Given the description of an element on the screen output the (x, y) to click on. 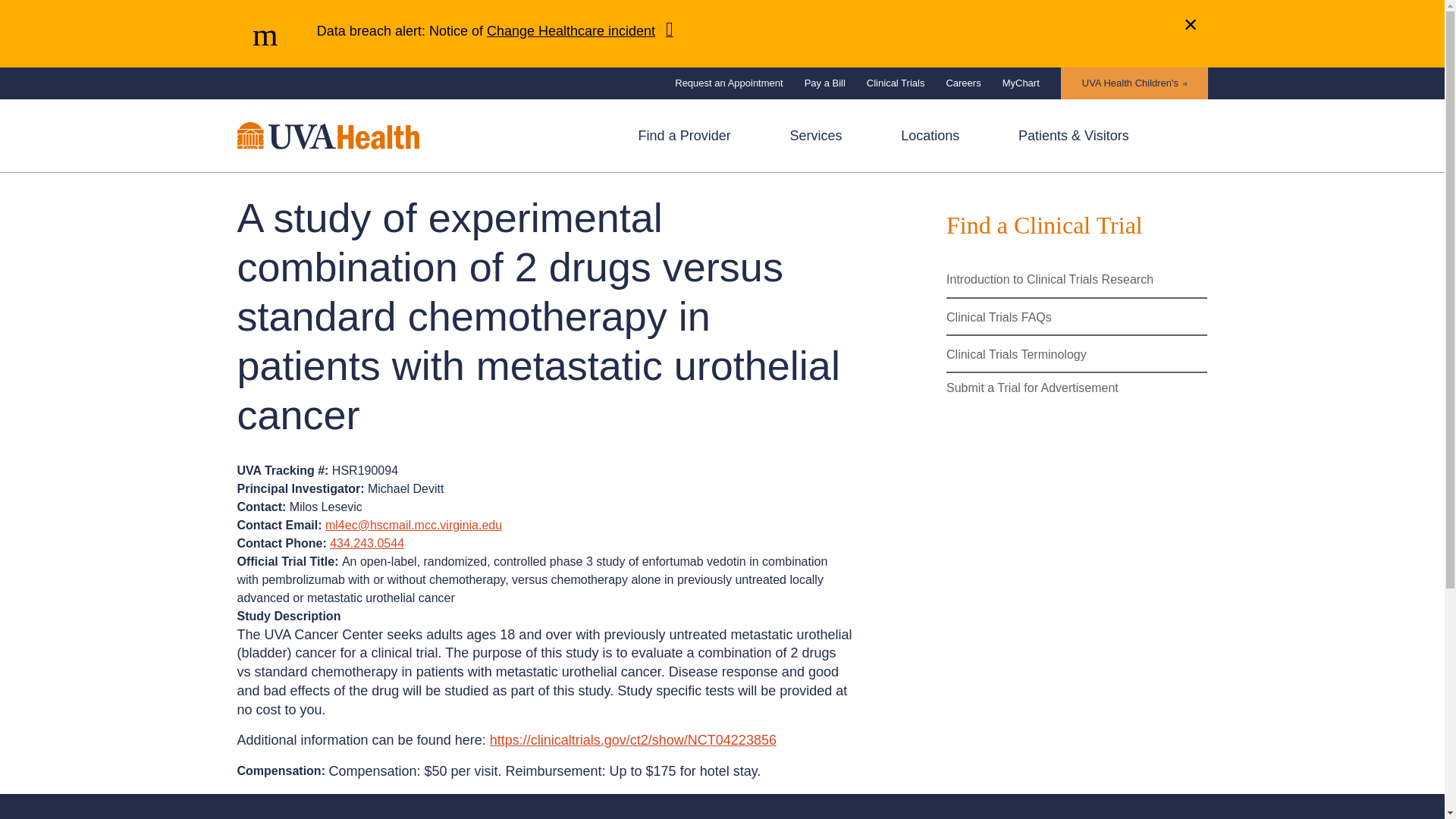
MyChart (1021, 83)
Find a Doctor (684, 135)
MyChart (1021, 83)
Find a Clinical Trial (1076, 225)
Locations (930, 135)
Find a Clinical Trial (1076, 225)
Services (815, 135)
Clinical Trials Terminology (1076, 354)
434.243.0544 (367, 543)
Change Healthcare incident (579, 29)
